Given the description of an element on the screen output the (x, y) to click on. 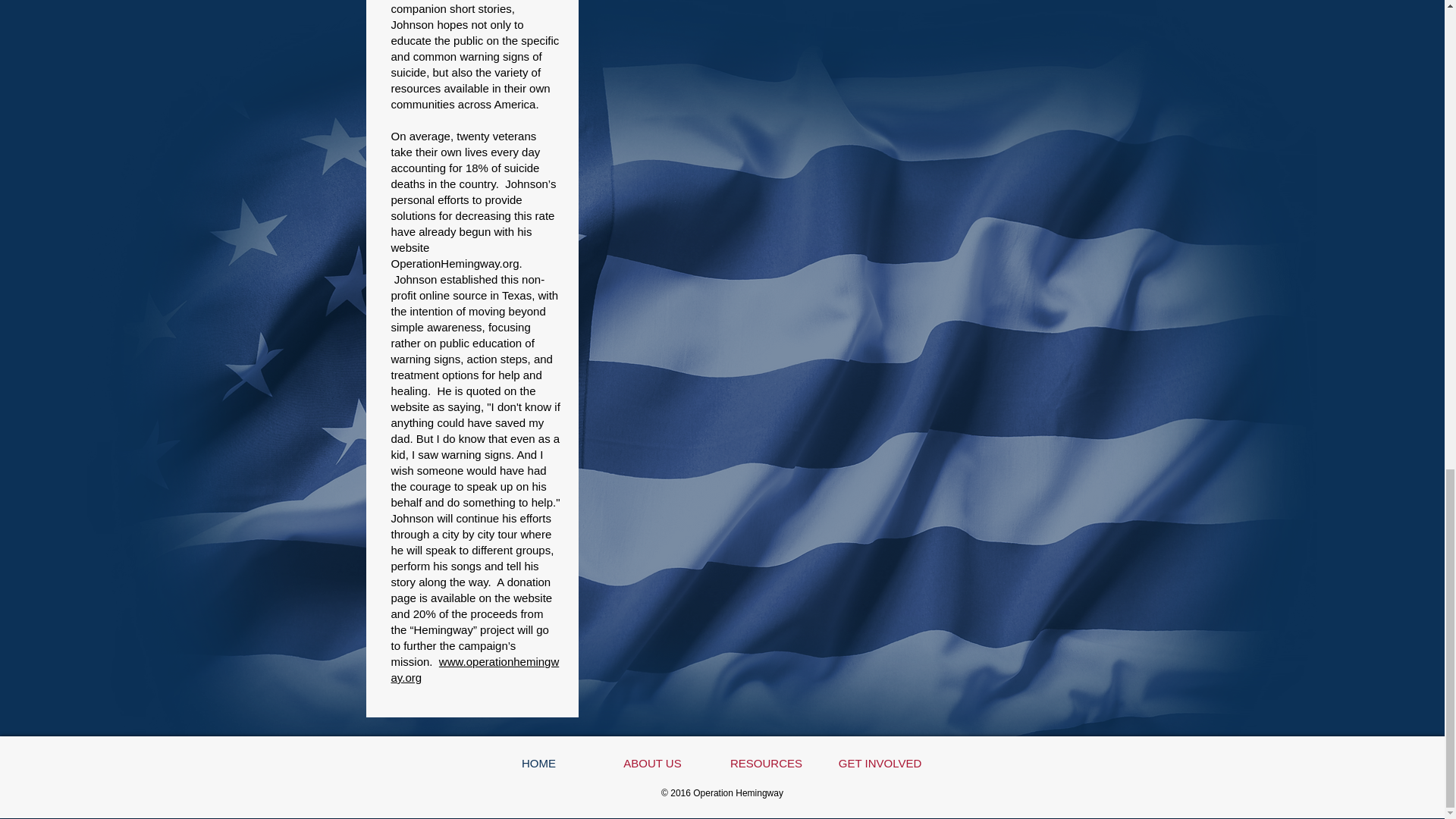
ABOUT US (652, 763)
www.operationhemingway.org (475, 669)
RESOURCES (767, 763)
GET INVOLVED (880, 763)
HOME (538, 763)
